Given the description of an element on the screen output the (x, y) to click on. 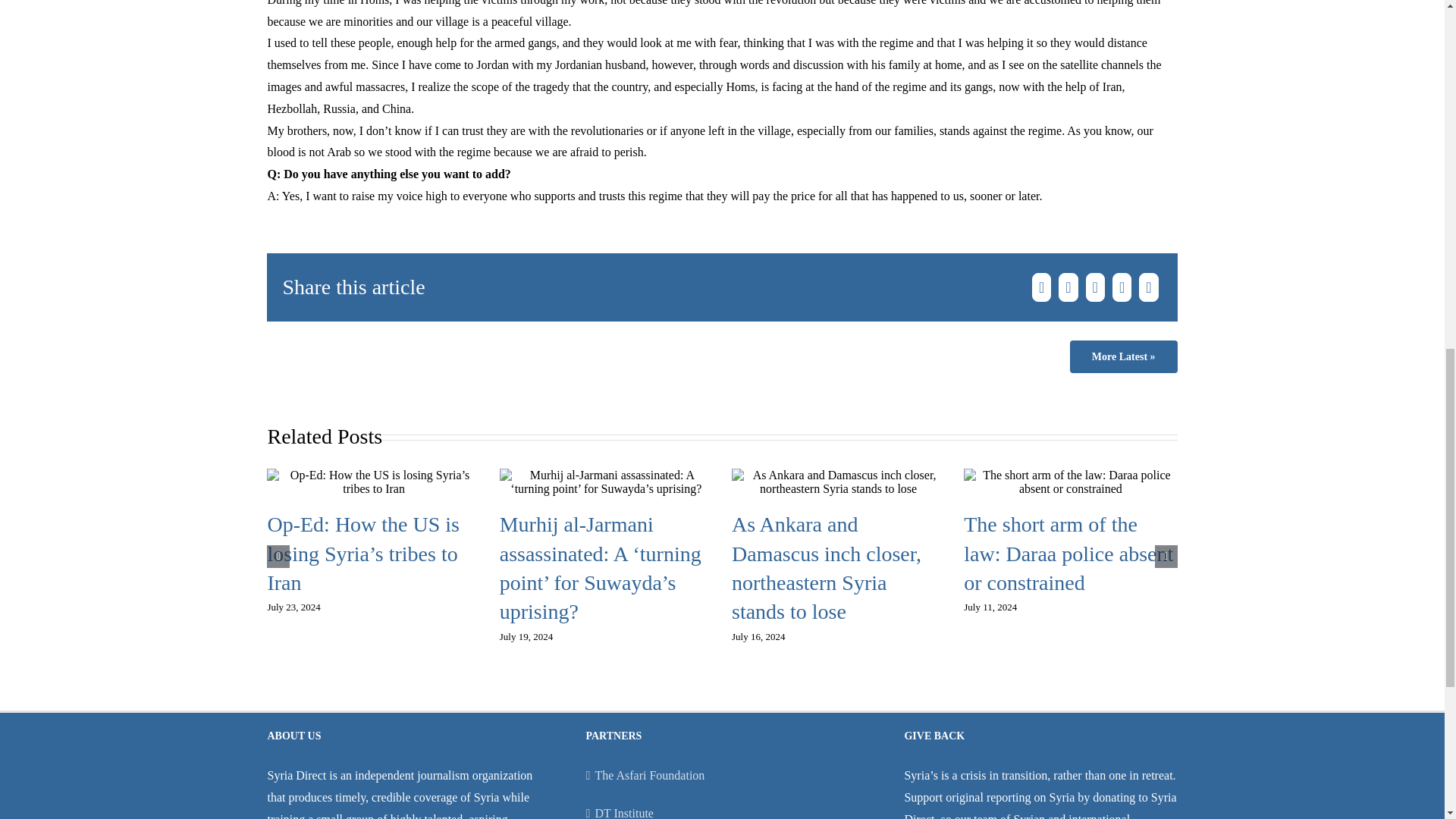
X (1067, 287)
Facebook (1040, 287)
Telegram (1148, 287)
LinkedIn (1094, 287)
WhatsApp (1121, 287)
The short arm of the law: Daraa police absent or constrained (1068, 552)
